Given the description of an element on the screen output the (x, y) to click on. 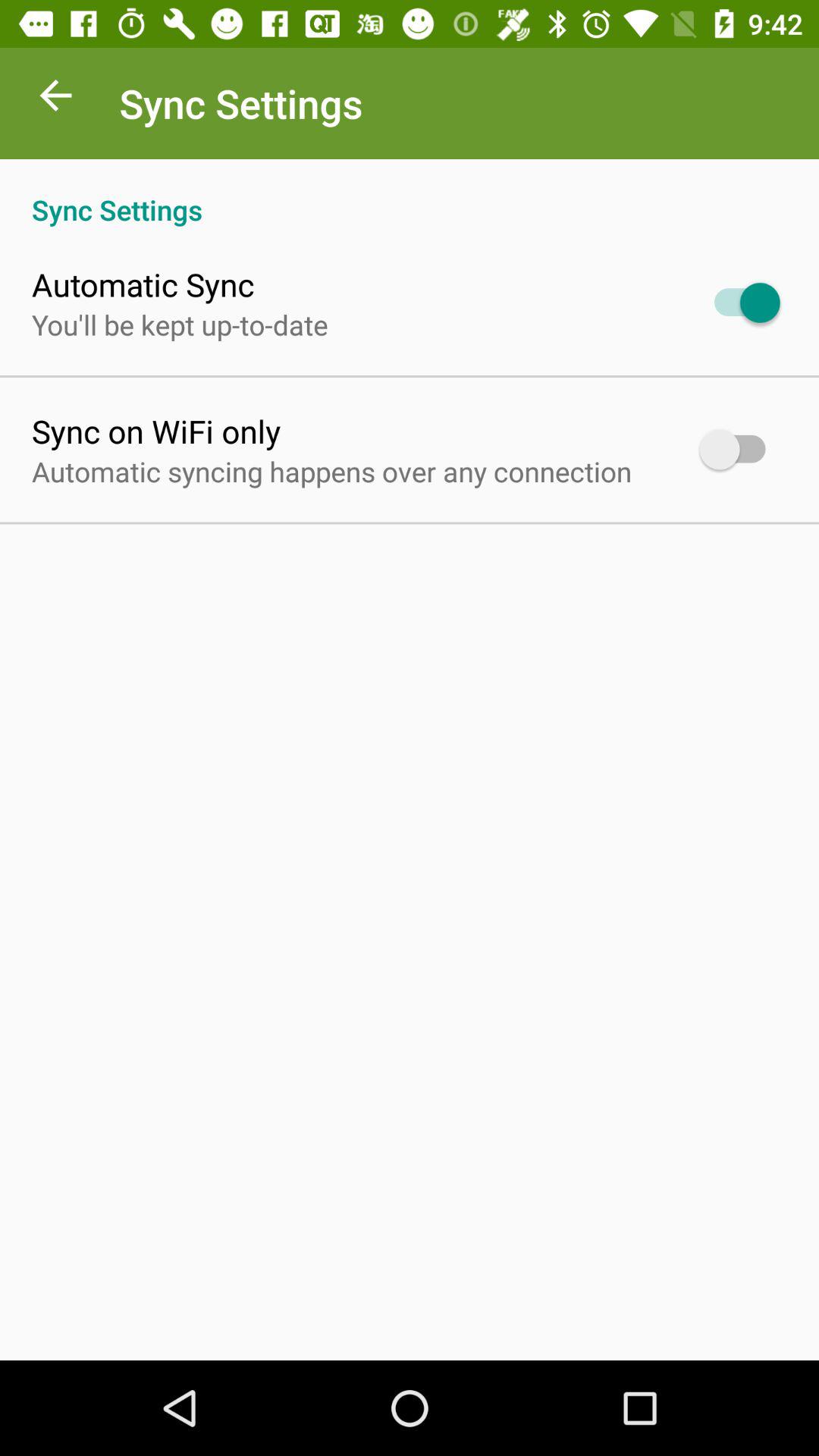
flip until you ll be app (179, 324)
